Given the description of an element on the screen output the (x, y) to click on. 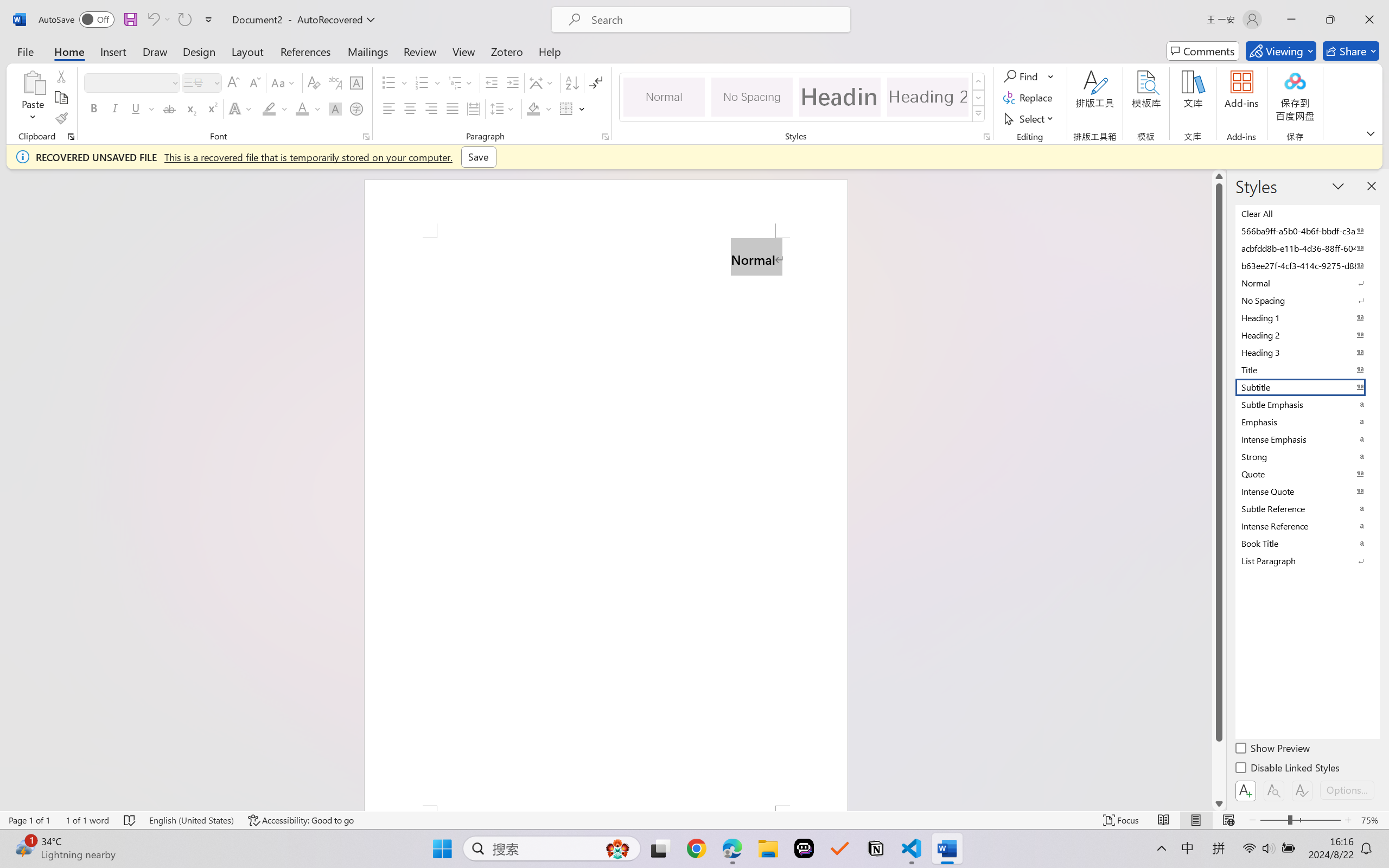
Subtitle (1306, 386)
Decrease Indent (491, 82)
Spelling and Grammar Check No Errors (130, 819)
Clear All (1306, 213)
Cut (60, 75)
Class: MsoCommandBar (694, 819)
Strikethrough (169, 108)
